Given the description of an element on the screen output the (x, y) to click on. 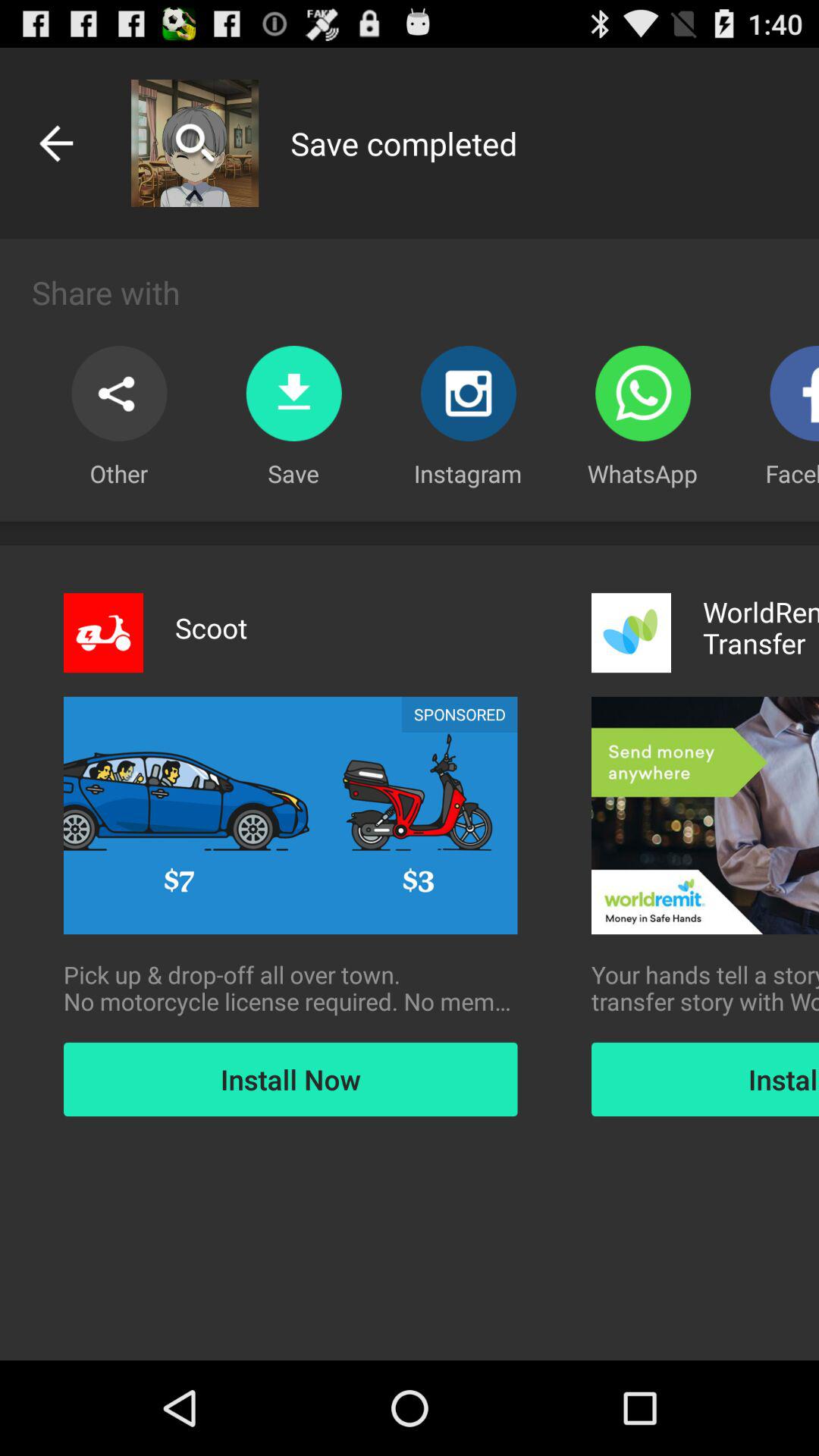
jump until your hands tell item (705, 988)
